Given the description of an element on the screen output the (x, y) to click on. 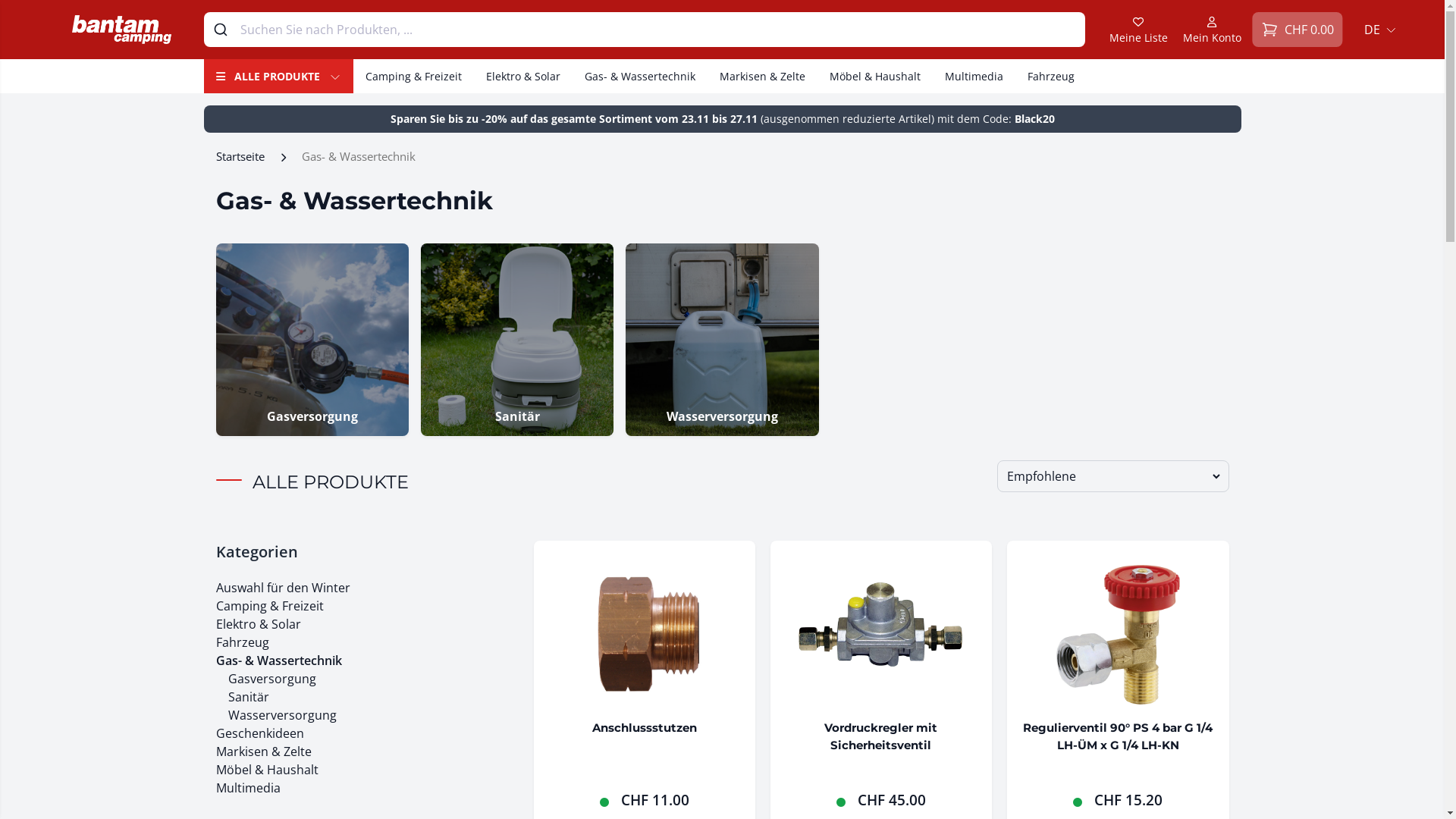
Wasserversorgung Element type: text (721, 339)
Wasserversorgung Element type: text (281, 714)
DE Element type: text (1377, 29)
Multimedia Element type: text (973, 76)
Camping & Freizeit Element type: text (269, 605)
Multimedia Element type: text (247, 787)
Gasversorgung Element type: text (311, 339)
Mein Konto Element type: text (1212, 29)
Gasversorgung Element type: text (271, 678)
Elektro & Solar Element type: text (522, 76)
Startseite Element type: text (239, 155)
Camping & Freizeit Element type: text (413, 76)
Geschenkideen Element type: text (259, 732)
Anschlussstutzen
CHF 11.00 Element type: text (644, 686)
Markisen & Zelte Element type: text (262, 751)
CHF 0.00 Element type: text (1297, 29)
DE Element type: text (1377, 29)
Fahrzeug Element type: text (241, 641)
ALLE PRODUKTE Element type: text (277, 76)
Meine Liste Element type: text (1137, 29)
Gas- & Wassertechnik Element type: text (638, 76)
Vordruckregler mit Sicherheitsventil
CHF 45.00 Element type: text (880, 686)
Gas- & Wassertechnik Element type: text (278, 660)
Fahrzeug Element type: text (1049, 76)
Elektro & Solar Element type: text (257, 623)
Markisen & Zelte Element type: text (761, 76)
Submit Element type: hover (222, 29)
